Given the description of an element on the screen output the (x, y) to click on. 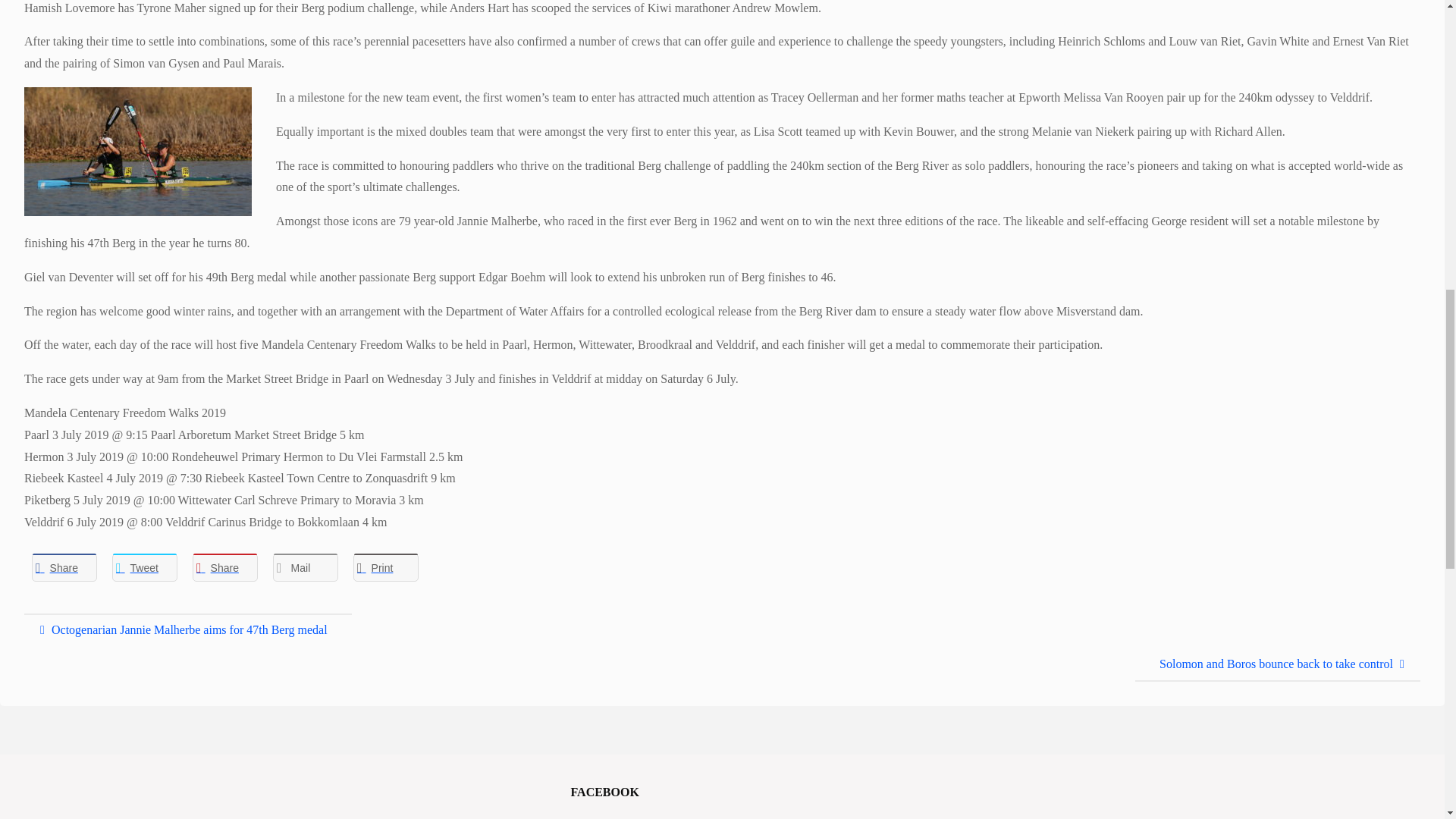
Print (386, 567)
Share on Twitter (144, 567)
Share on Pinterest (224, 567)
Share it on Email (305, 567)
Share on Facebook (64, 567)
